Given the description of an element on the screen output the (x, y) to click on. 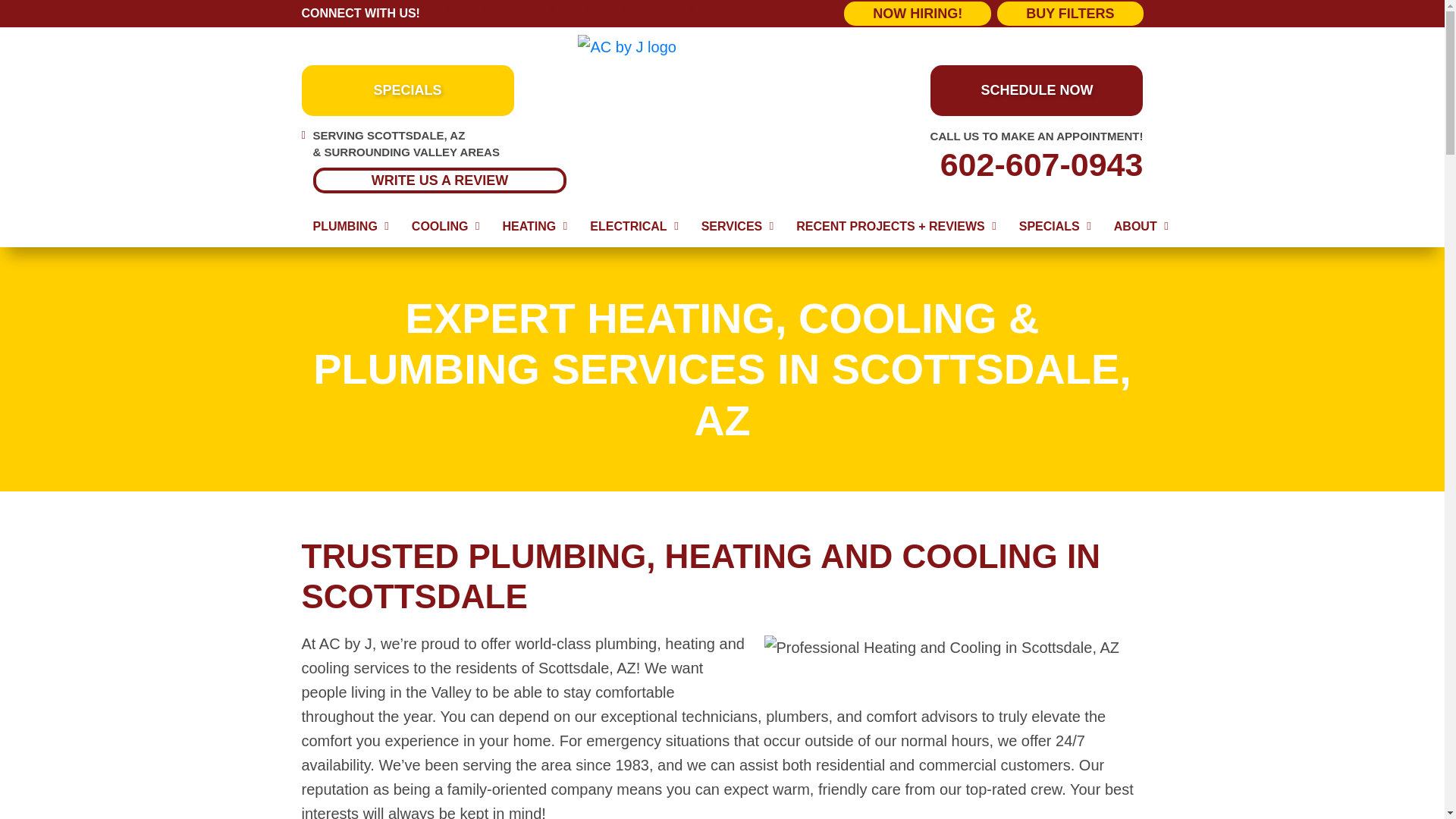
SPECIALS (407, 90)
PLUMBING (350, 226)
602-607-0943 (1009, 165)
SCHEDULE NOW (1036, 90)
NOW HIRING! (917, 13)
BUY FILTERS (1069, 13)
AC by J (722, 46)
WRITE US A REVIEW (439, 179)
